Given the description of an element on the screen output the (x, y) to click on. 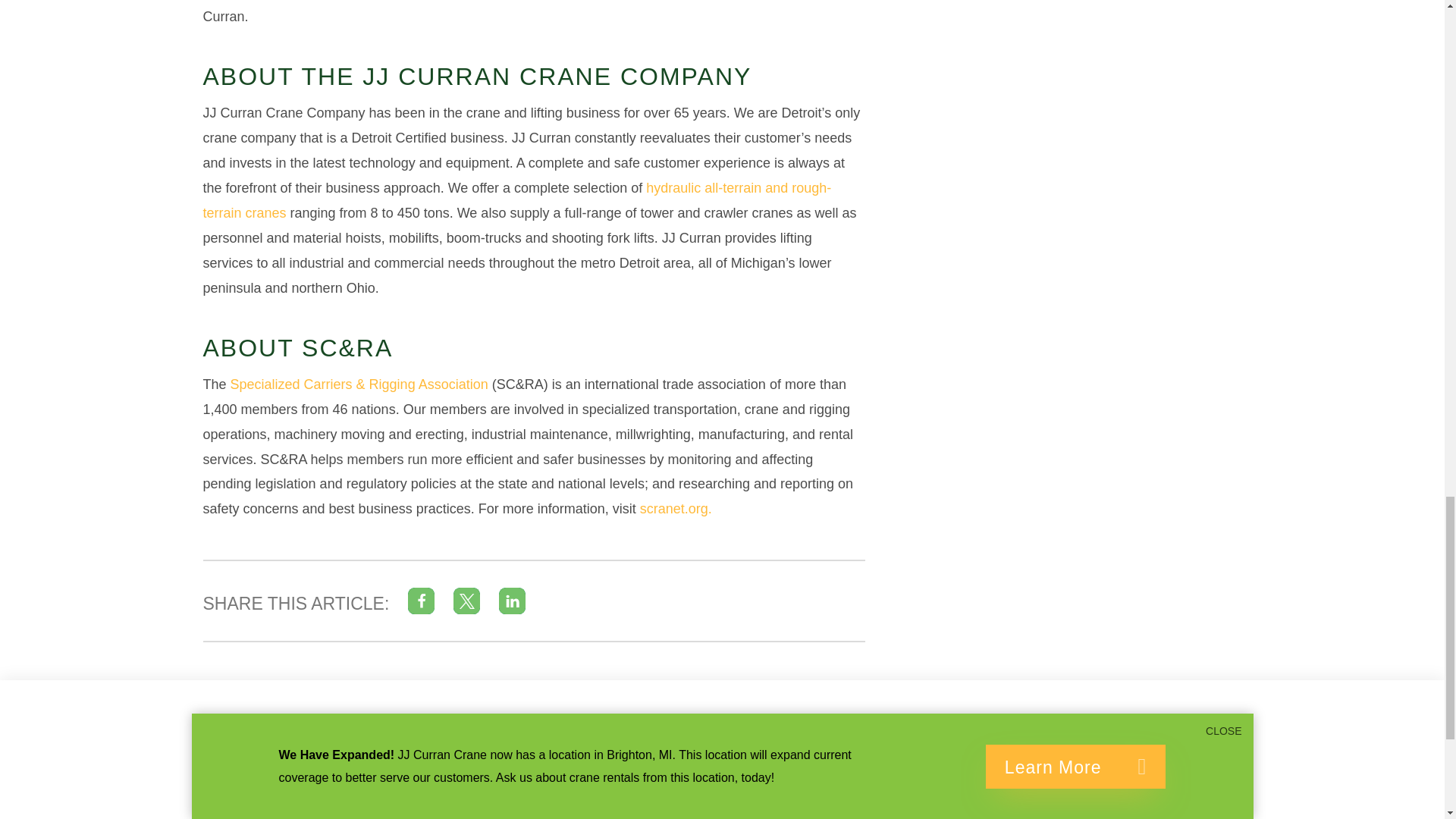
313.842.1700 (721, 773)
ABOUT (891, 773)
Share on X (466, 601)
Share on Facebook (420, 601)
scranet.org. (675, 508)
hydraulic all-terrain and rough-terrain cranes (517, 200)
EQUIPMENT (917, 812)
RENT A CRANE (732, 812)
Share on LinkedIn (512, 601)
